Given the description of an element on the screen output the (x, y) to click on. 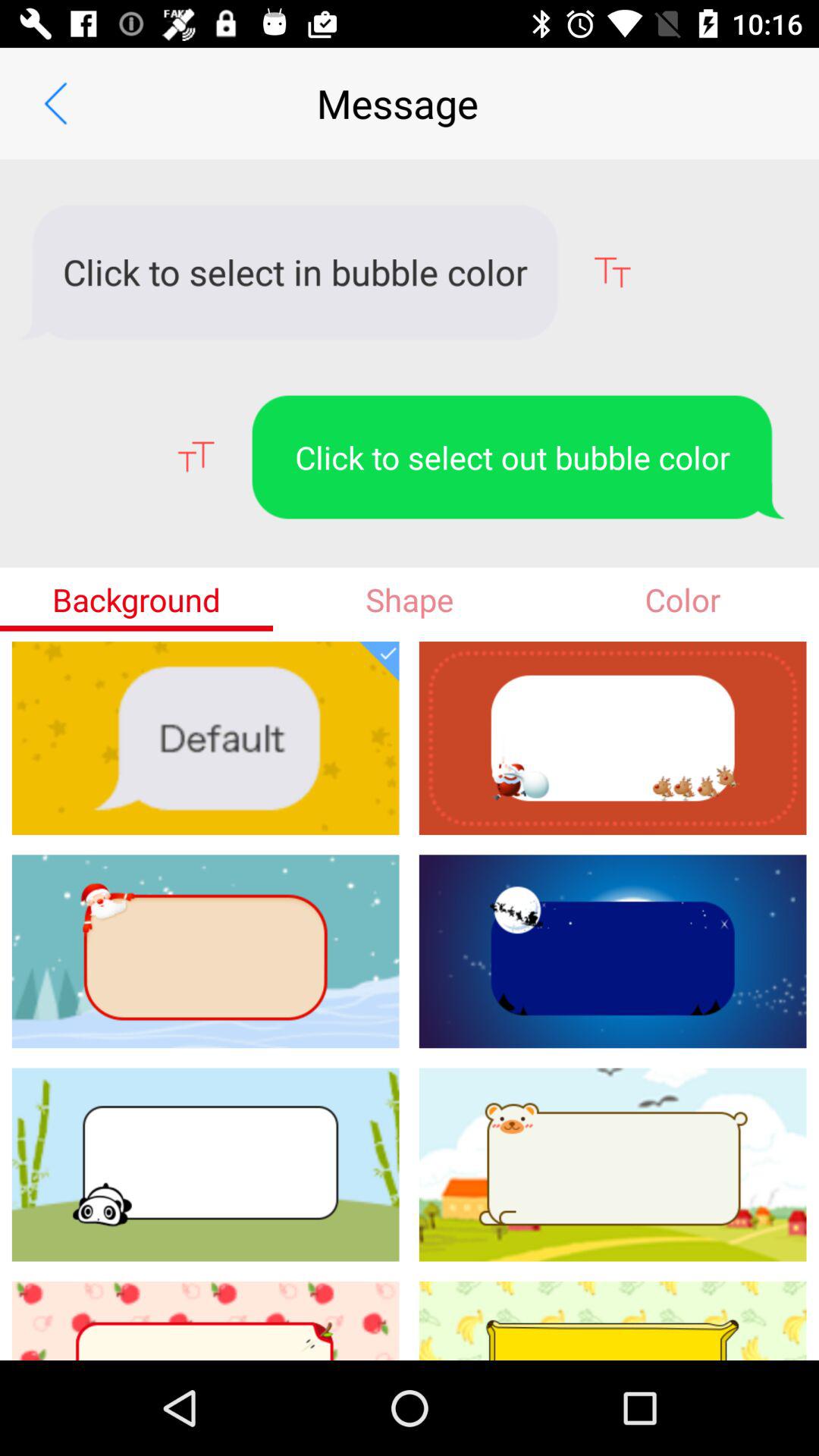
select icon to the left of the shape (136, 599)
